Given the description of an element on the screen output the (x, y) to click on. 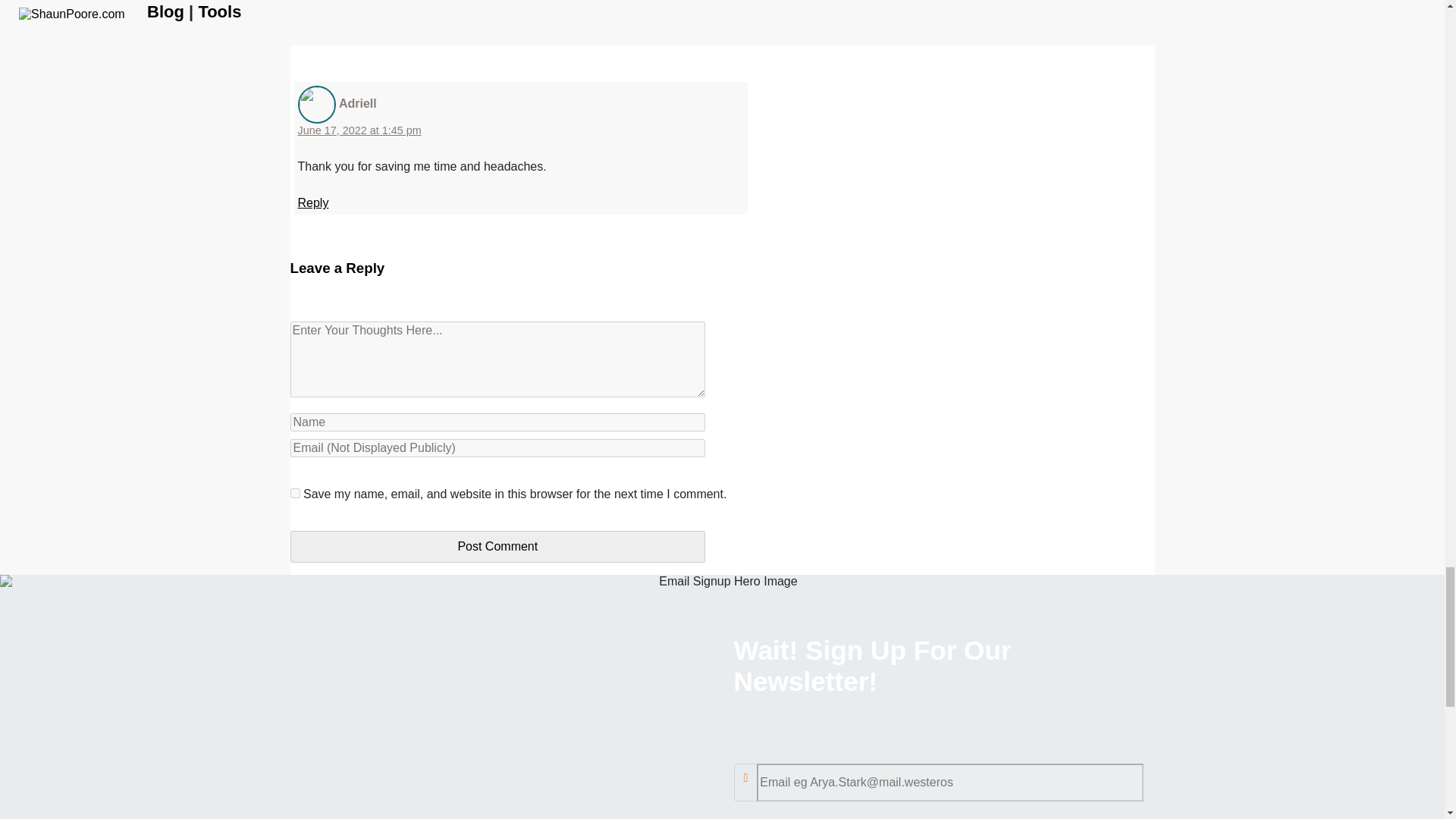
yes (294, 492)
Post Comment (496, 546)
Post Comment (496, 546)
June 17, 2022 at 1:45 pm (358, 130)
Reply (313, 202)
